Given the description of an element on the screen output the (x, y) to click on. 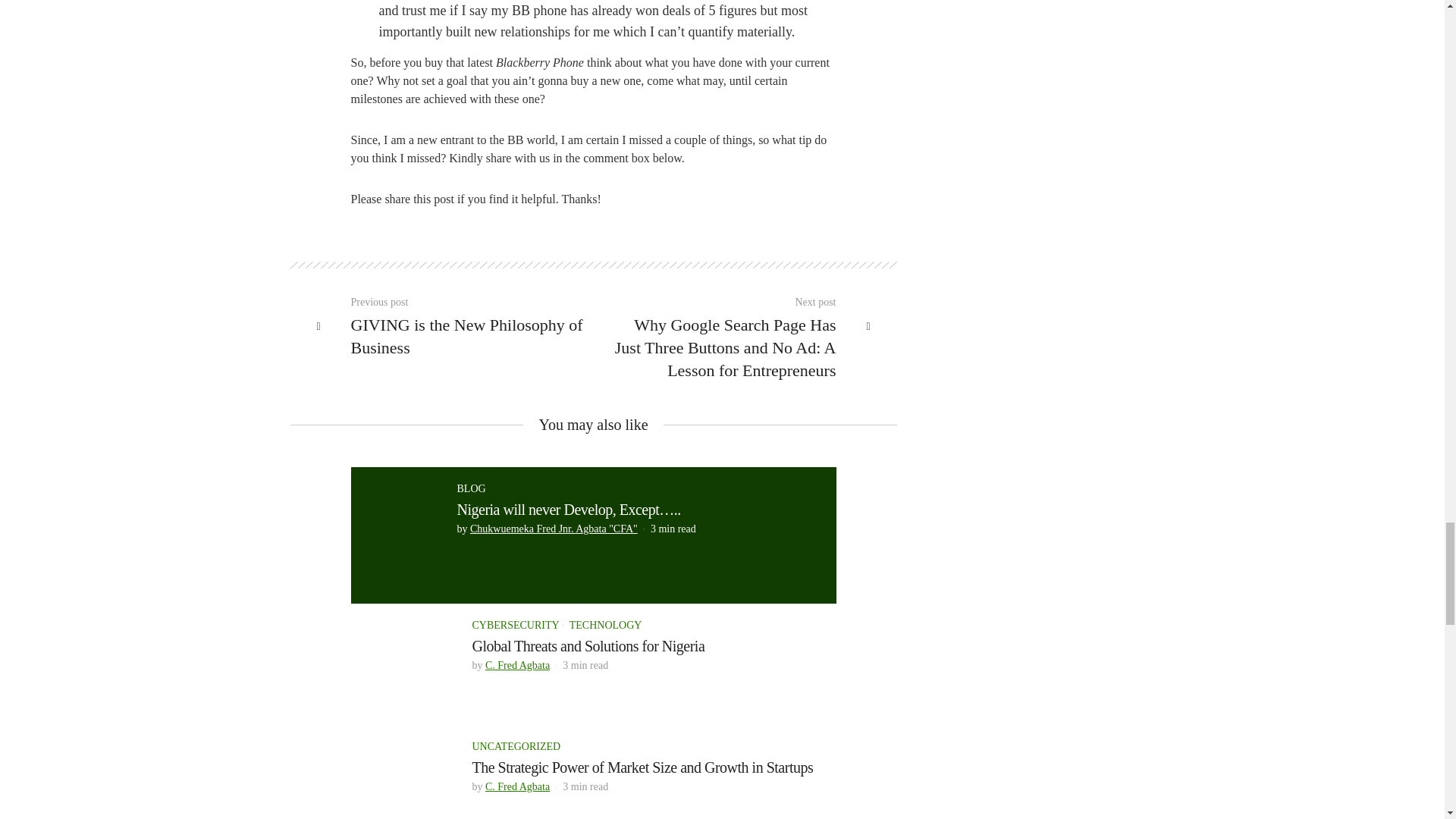
The Strategic Power of Market Size and Growth in Startups (403, 791)
Global Threats and Solutions for Nigeria (403, 670)
Global Threats and Solutions for Nigeria (587, 646)
The Strategic Power of Market Size and Growth in Startups (641, 767)
